Given the description of an element on the screen output the (x, y) to click on. 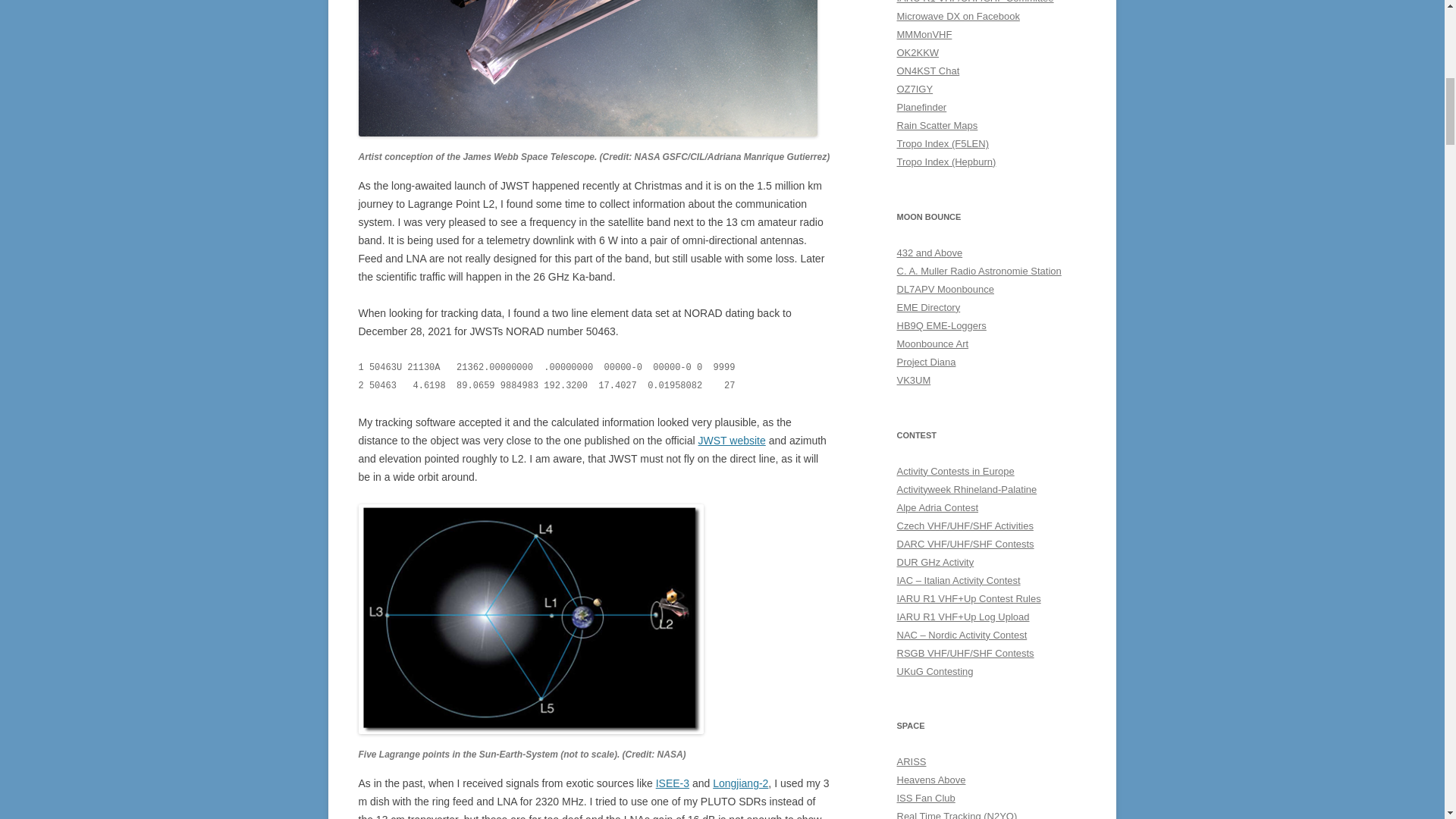
JWST website (731, 440)
ISEE-3 (672, 783)
Longjiang-2 (740, 783)
